Given the description of an element on the screen output the (x, y) to click on. 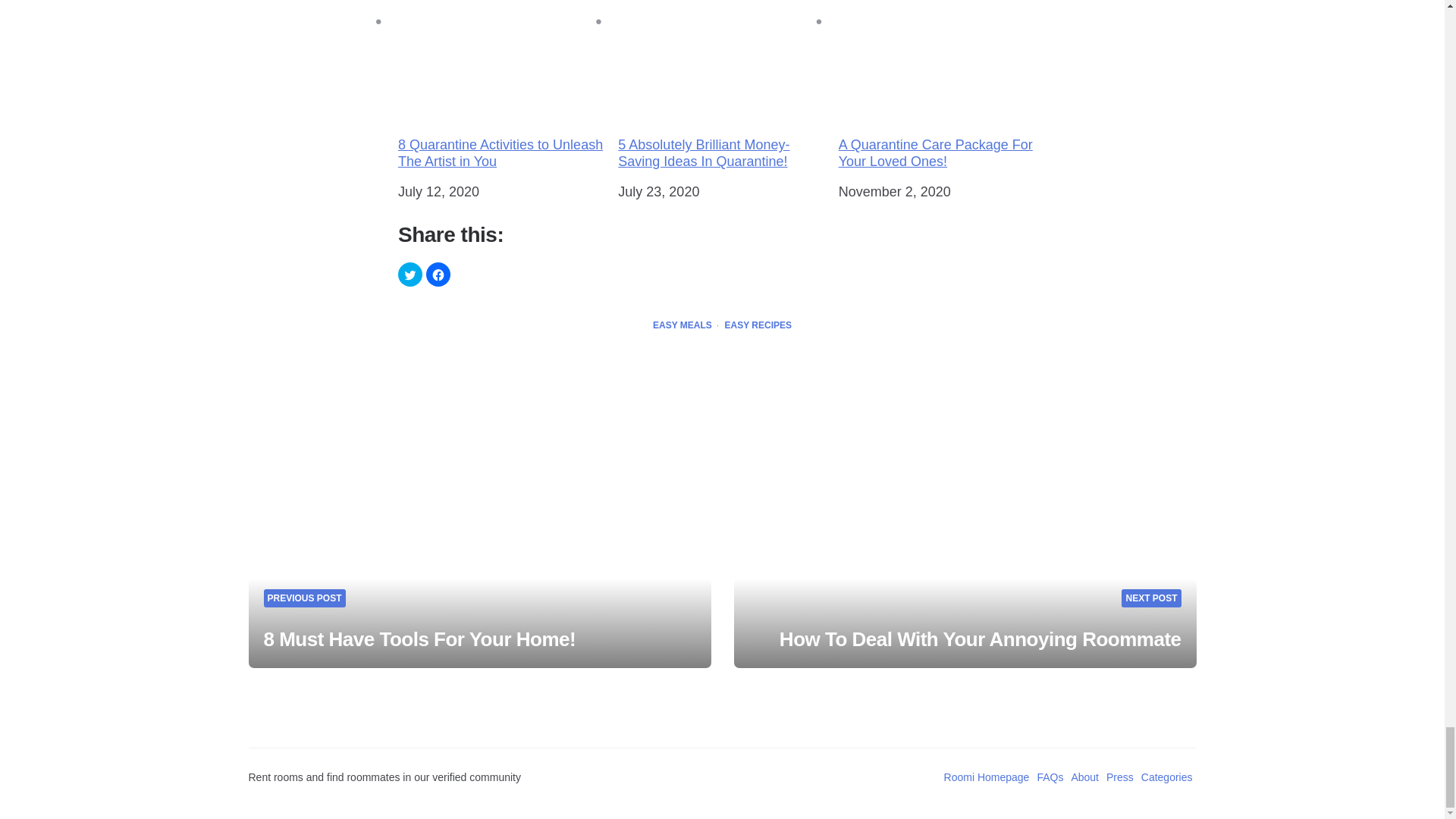
EASY RECIPES (758, 326)
A Quarantine Care Package For Your Loved Ones! (942, 90)
How To Deal With Your Annoying Roommate (979, 639)
EASY MEALS (681, 326)
Click to share on Twitter (409, 274)
5 Absolutely Brilliant Money-Saving Ideas In Quarantine! (721, 90)
FAQs (1049, 776)
8 Must Have Tools For Your Home! (419, 639)
Roomi Homepage (986, 776)
Click to share on Facebook (437, 274)
8 Quarantine Activities to Unleash The Artist in You (501, 90)
